Given the description of an element on the screen output the (x, y) to click on. 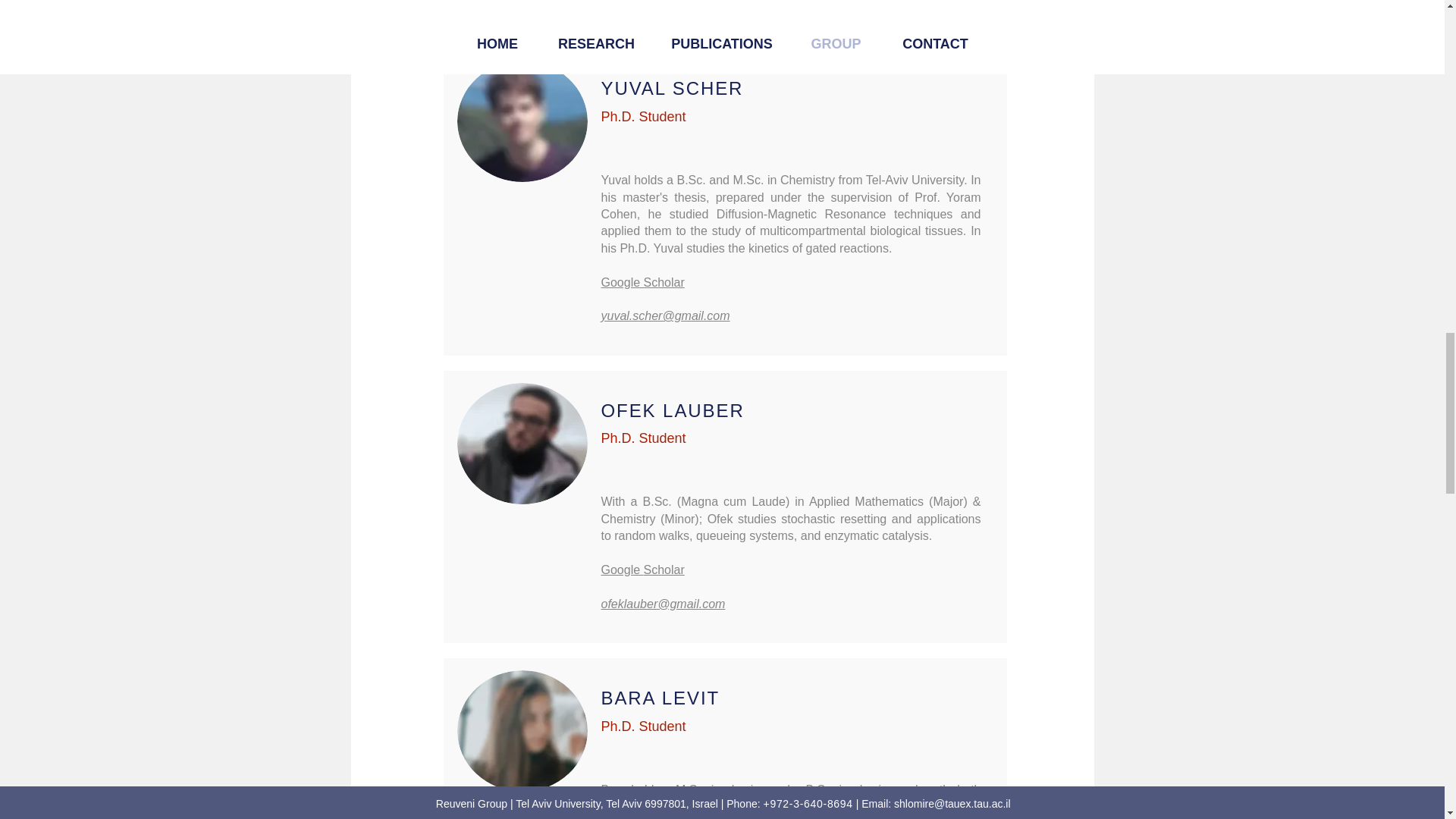
Google Scholar (641, 569)
Google Scholar (641, 282)
